Given the description of an element on the screen output the (x, y) to click on. 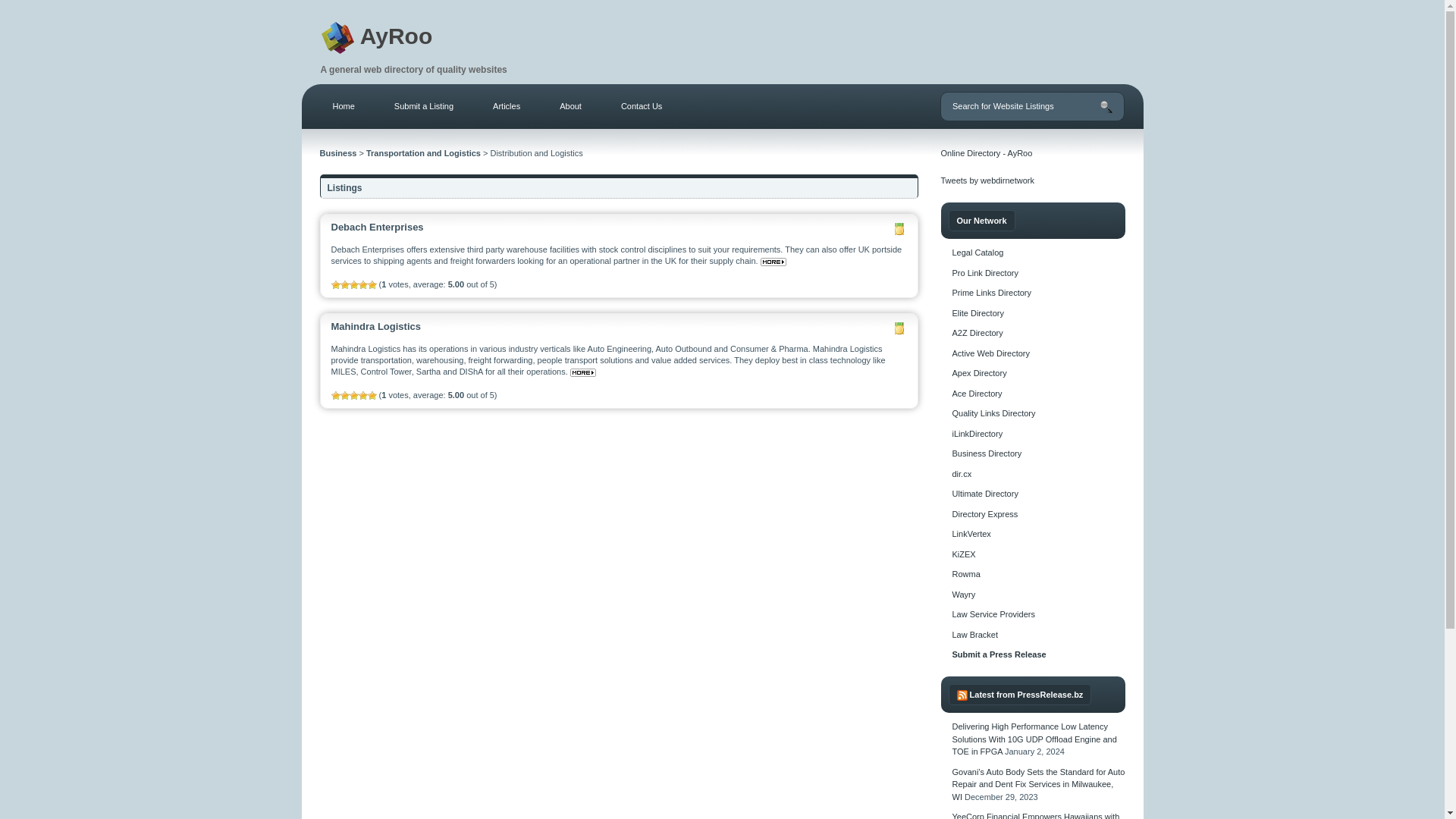
Contact Us (641, 106)
Tweets by webdirnetwork (986, 180)
1 Star (334, 284)
Articles (506, 106)
Wayry (963, 593)
Online Directory - AyRoo (986, 153)
Home (343, 106)
Submit a Press Release (999, 654)
Prime Links Directory (992, 292)
Law Bracket (975, 634)
Quality Links Directory (993, 412)
4 Stars (362, 395)
2 Stars (344, 395)
Debach Enterprises (376, 226)
